Given the description of an element on the screen output the (x, y) to click on. 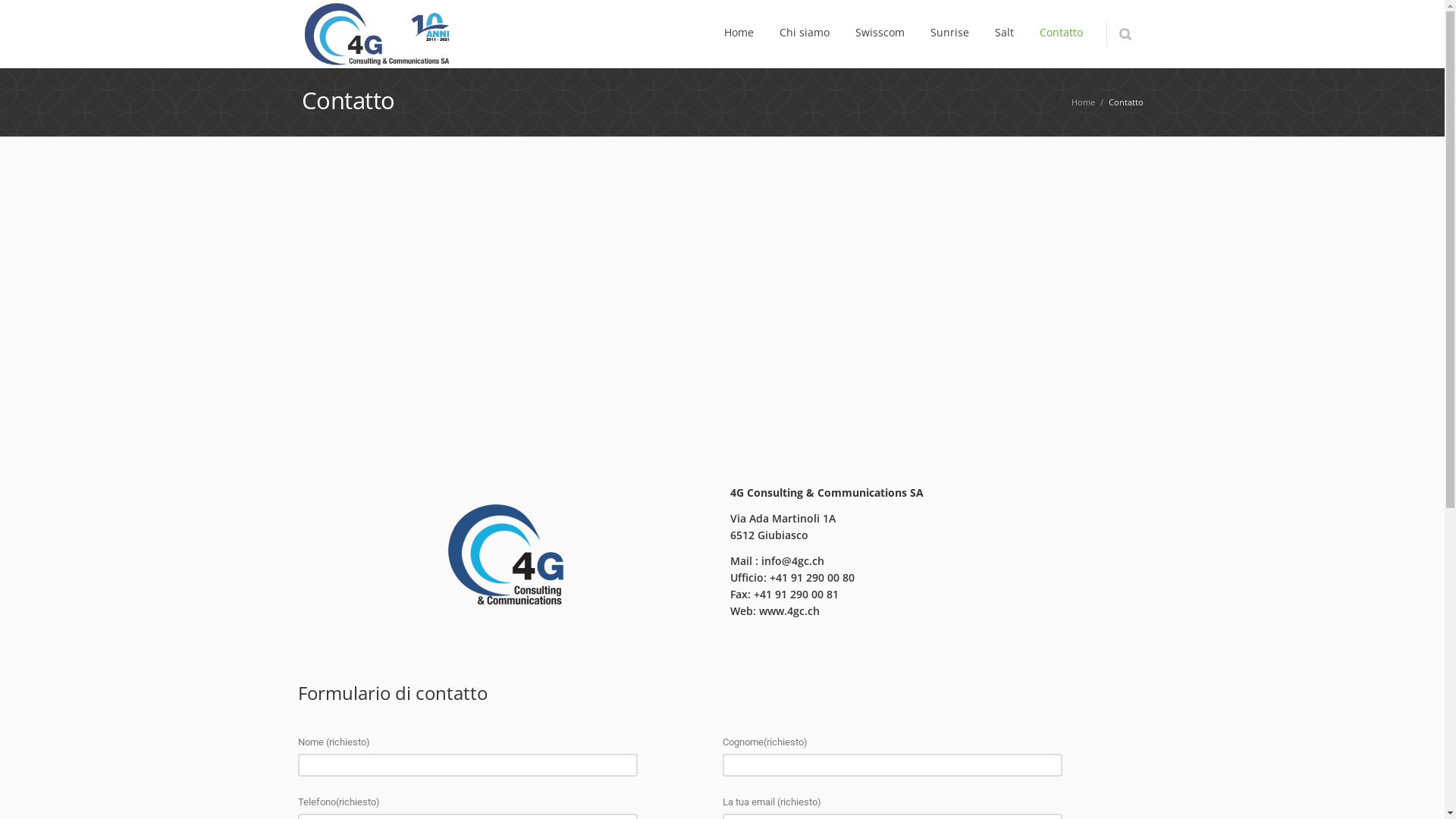
Search Element type: text (1123, 33)
Contatto Element type: text (1060, 34)
Home Element type: text (738, 34)
Home Element type: text (1082, 101)
Via Linoleum 1A 6512 Giubiasco Element type: hover (722, 300)
Sunrise Element type: text (948, 34)
Chi siamo Element type: text (804, 34)
Salt Element type: text (1003, 34)
Swisscom Element type: text (879, 34)
logo4g Element type: hover (506, 556)
